Given the description of an element on the screen output the (x, y) to click on. 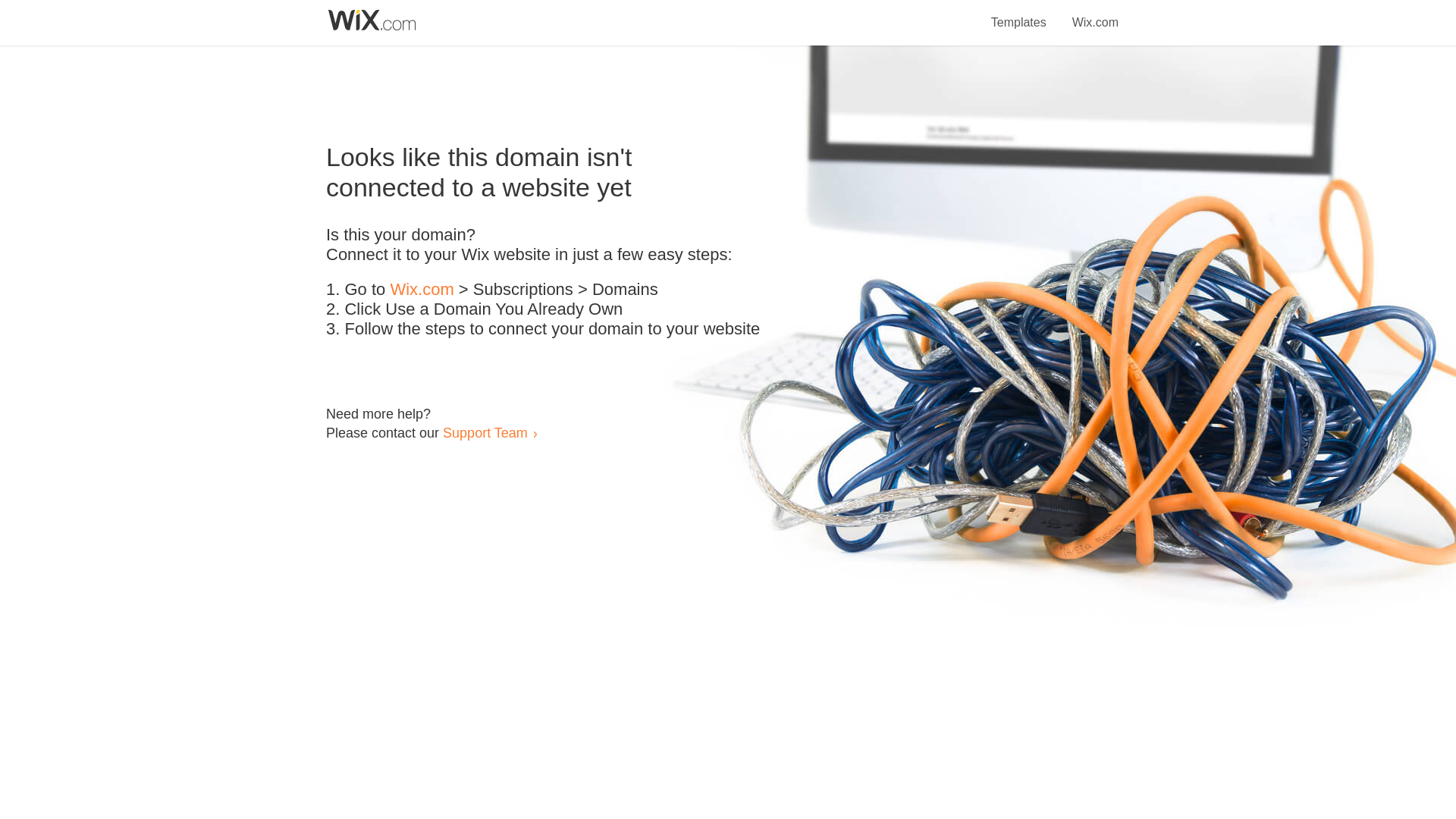
Templates (1018, 14)
Support Team (484, 432)
Wix.com (1095, 14)
Wix.com (421, 289)
